Given the description of an element on the screen output the (x, y) to click on. 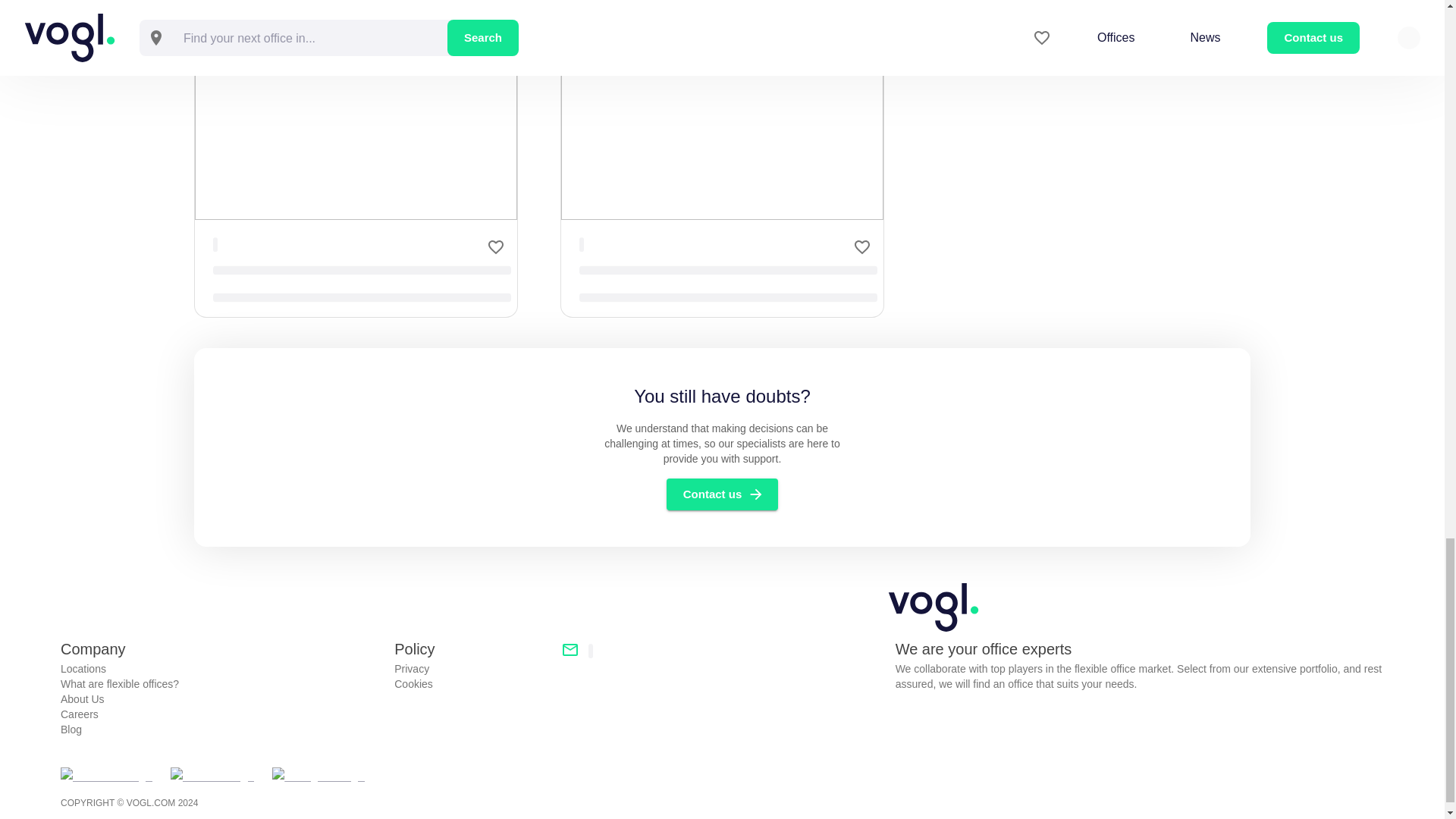
Cookies (471, 683)
Privacy (471, 668)
What are flexible offices? (221, 683)
Locations (221, 668)
About Us (221, 698)
Blog (221, 729)
Contact us (722, 494)
Careers (221, 713)
